Given the description of an element on the screen output the (x, y) to click on. 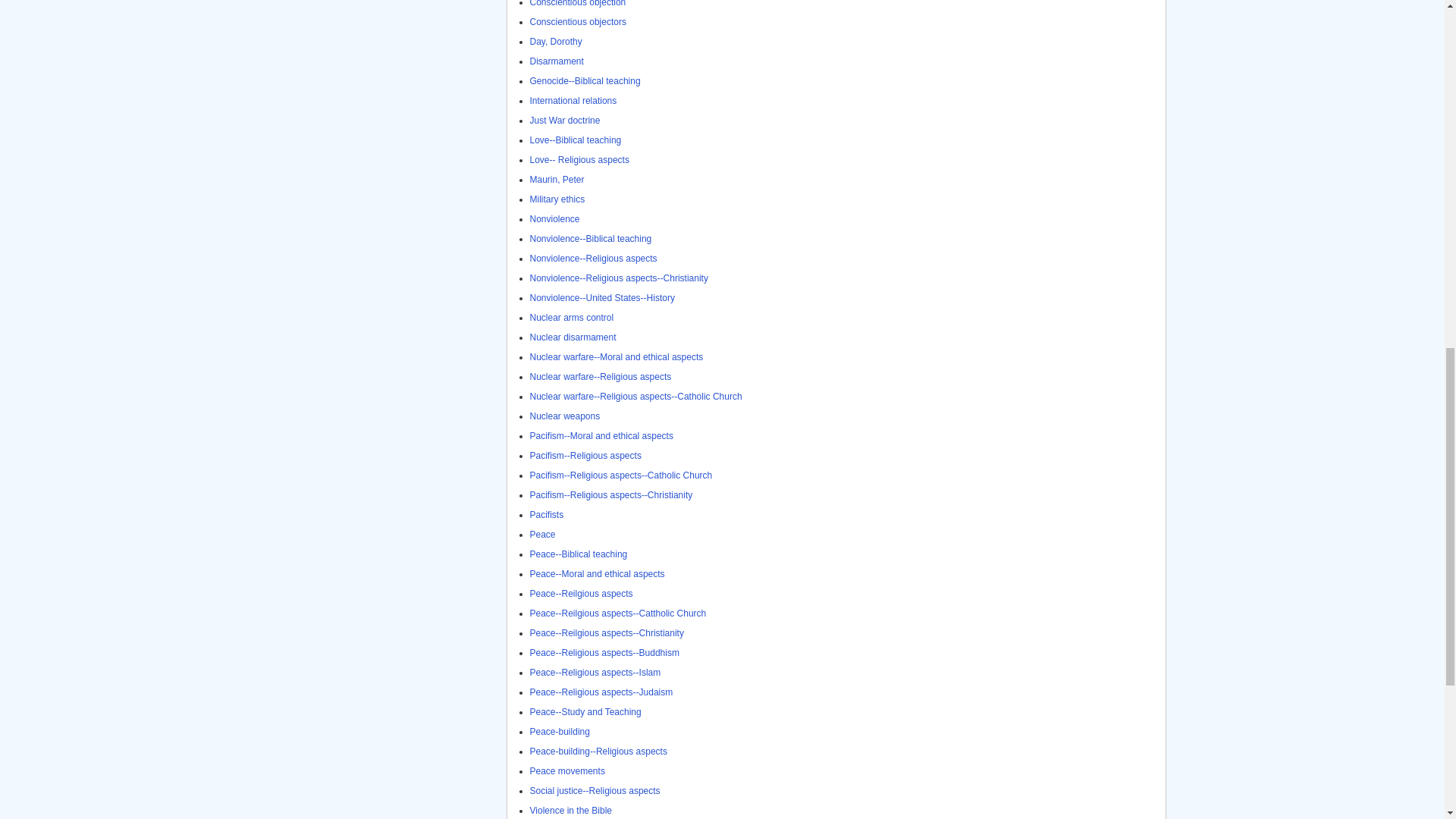
Love-- Religious aspects (578, 159)
Maurin, Peter (556, 179)
Genocide--Biblical teaching (584, 81)
Love--Biblical teaching (575, 140)
Just War doctrine (564, 120)
Conscientious objectors (577, 21)
Military ethics (557, 199)
International relations (572, 100)
Day, Dorothy (554, 41)
Disarmament (556, 61)
Conscientious objection (577, 3)
